Given the description of an element on the screen output the (x, y) to click on. 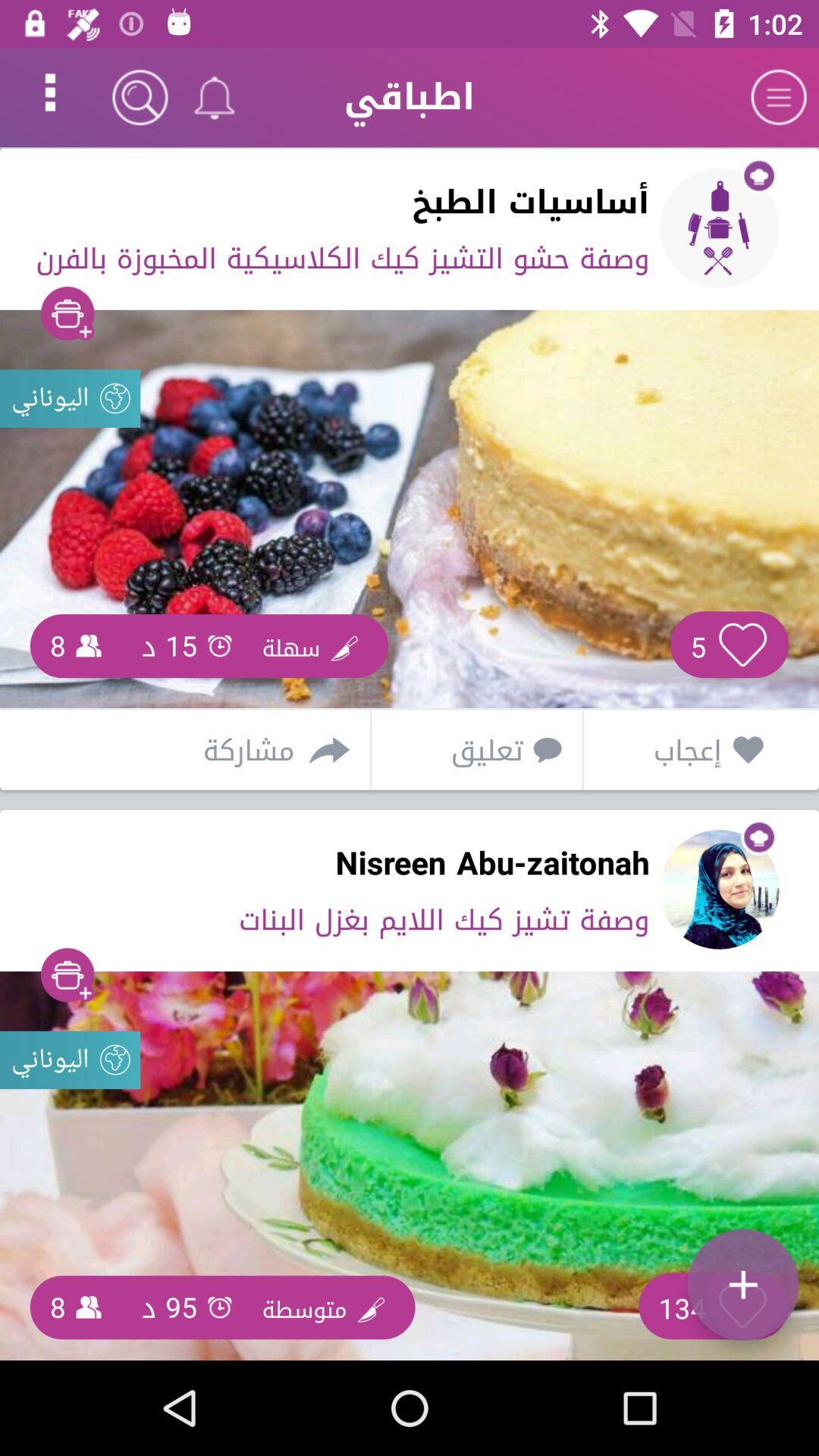
click on the text below 5 (673, 750)
click on the label below the menu button (719, 228)
